Given the description of an element on the screen output the (x, y) to click on. 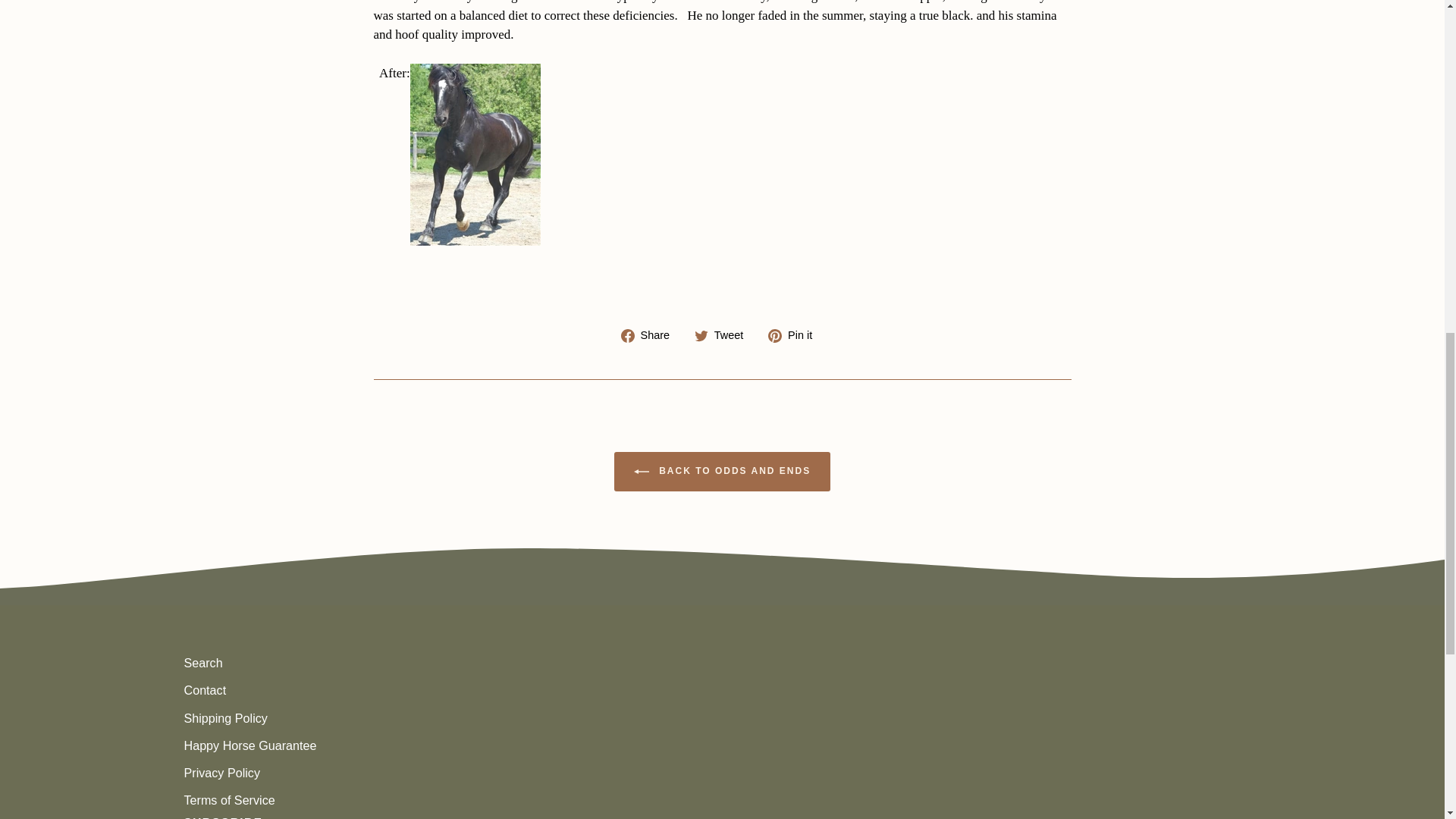
Pin on Pinterest (796, 335)
Share on Facebook (651, 335)
ICON-LEFT-ARROW (641, 471)
twitter (700, 336)
Tweet on Twitter (724, 335)
